Given the description of an element on the screen output the (x, y) to click on. 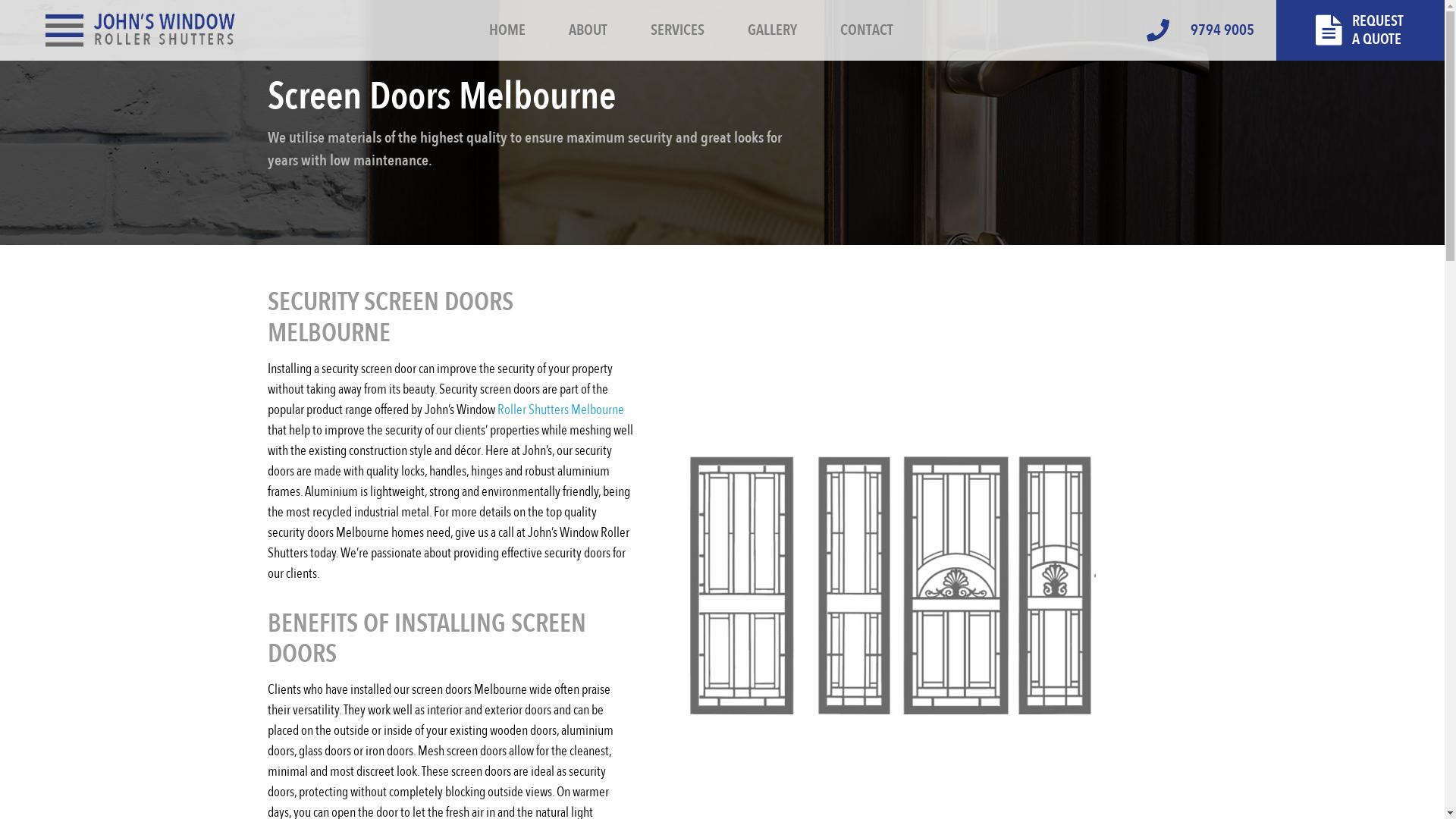
SERVICES Element type: text (676, 30)
9794 9005 Element type: text (1211, 29)
CONTACT Element type: text (866, 30)
GALLERY Element type: text (771, 30)
HOME Element type: text (507, 30)
ABOUT Element type: text (587, 30)
Roller Shutters Melbourne Element type: text (560, 409)
ROLLER SHUTTERS MELBOURNE Element type: text (140, 30)
REQUEST A QUOTE Element type: text (1360, 43)
